Given the description of an element on the screen output the (x, y) to click on. 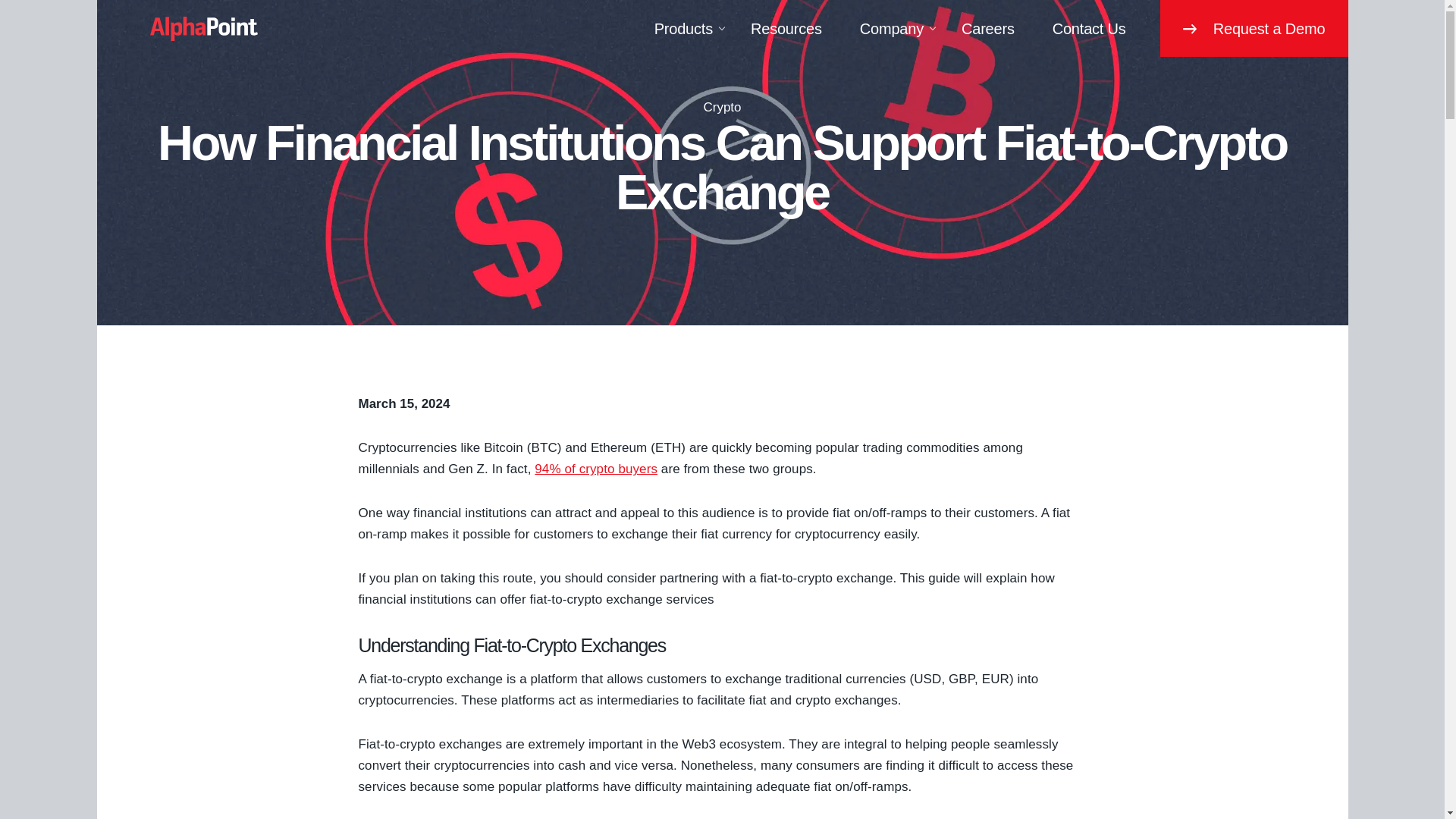
Products (687, 28)
Request a Demo (1254, 28)
Careers (991, 28)
Company (895, 28)
Contact Us (1092, 28)
Resources (789, 28)
